Given the description of an element on the screen output the (x, y) to click on. 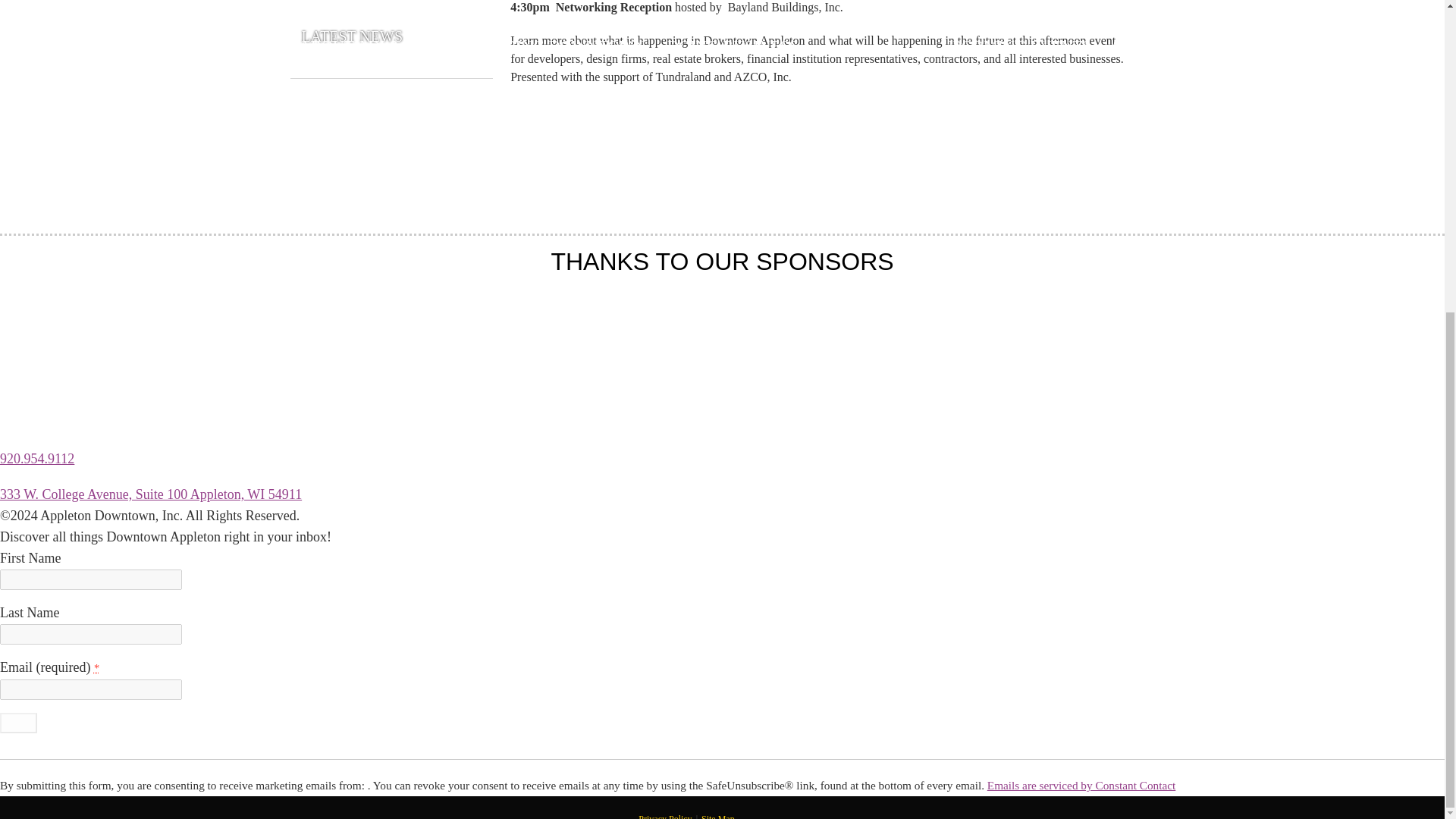
GO! (18, 722)
